Given the description of an element on the screen output the (x, y) to click on. 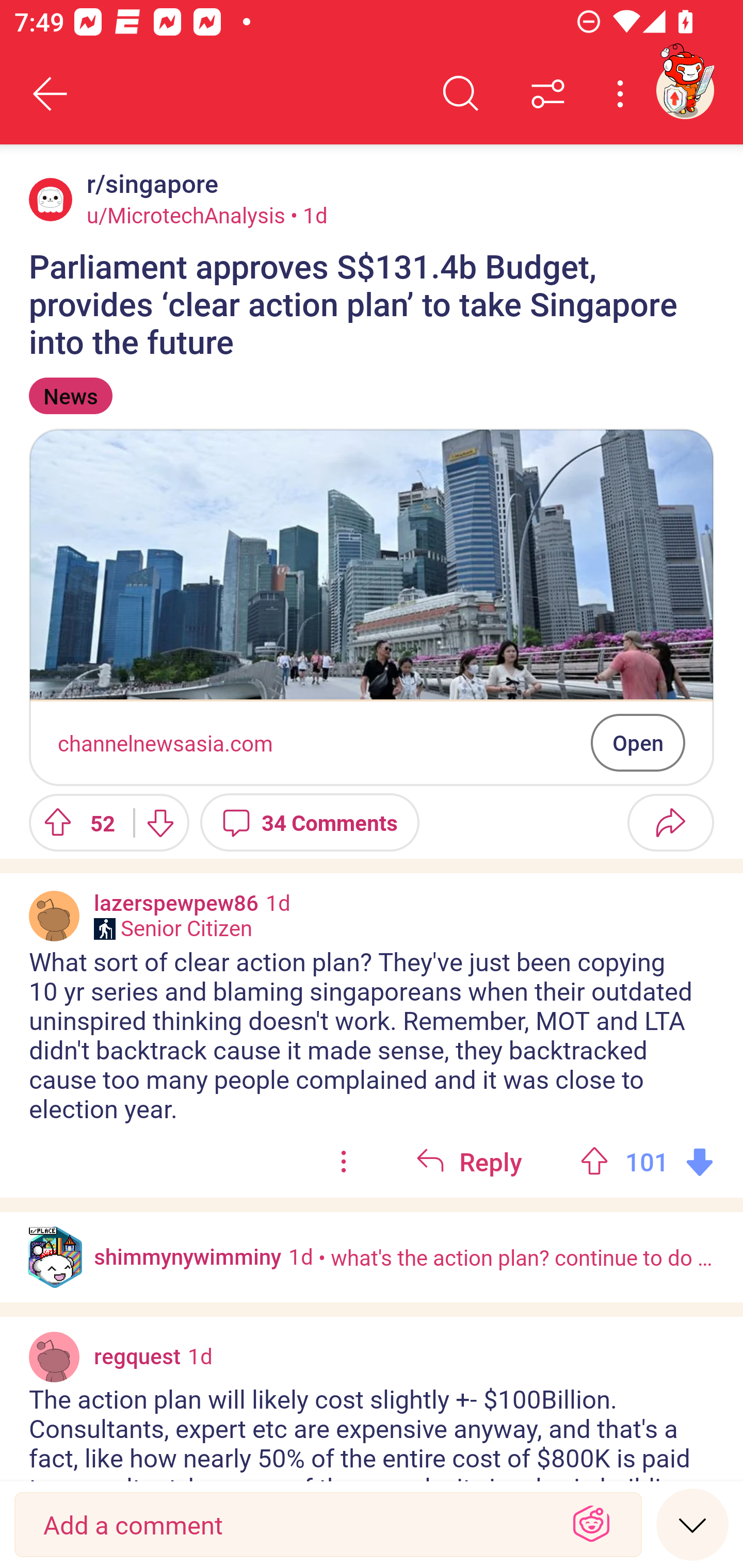
Back (50, 93)
TestAppium002 account (685, 90)
Search comments (460, 93)
Sort comments (547, 93)
More options (623, 93)
r/singapore (148, 183)
Avatar (50, 199)
News (70, 395)
Preview Image channelnewsasia.com Open (371, 606)
Open (637, 742)
Upvote 52 (73, 822)
Downvote (158, 822)
34 Comments (309, 822)
Share (670, 822)
Avatar (53, 915)
￼ Senior Citizen (172, 927)
options (343, 1161)
Reply (469, 1161)
Upvote 101 101 votes Downvote (647, 1161)
Avatar (53, 1356)
Speed read (692, 1524)
Add a comment (291, 1524)
Show Expressions (590, 1524)
